Given the description of an element on the screen output the (x, y) to click on. 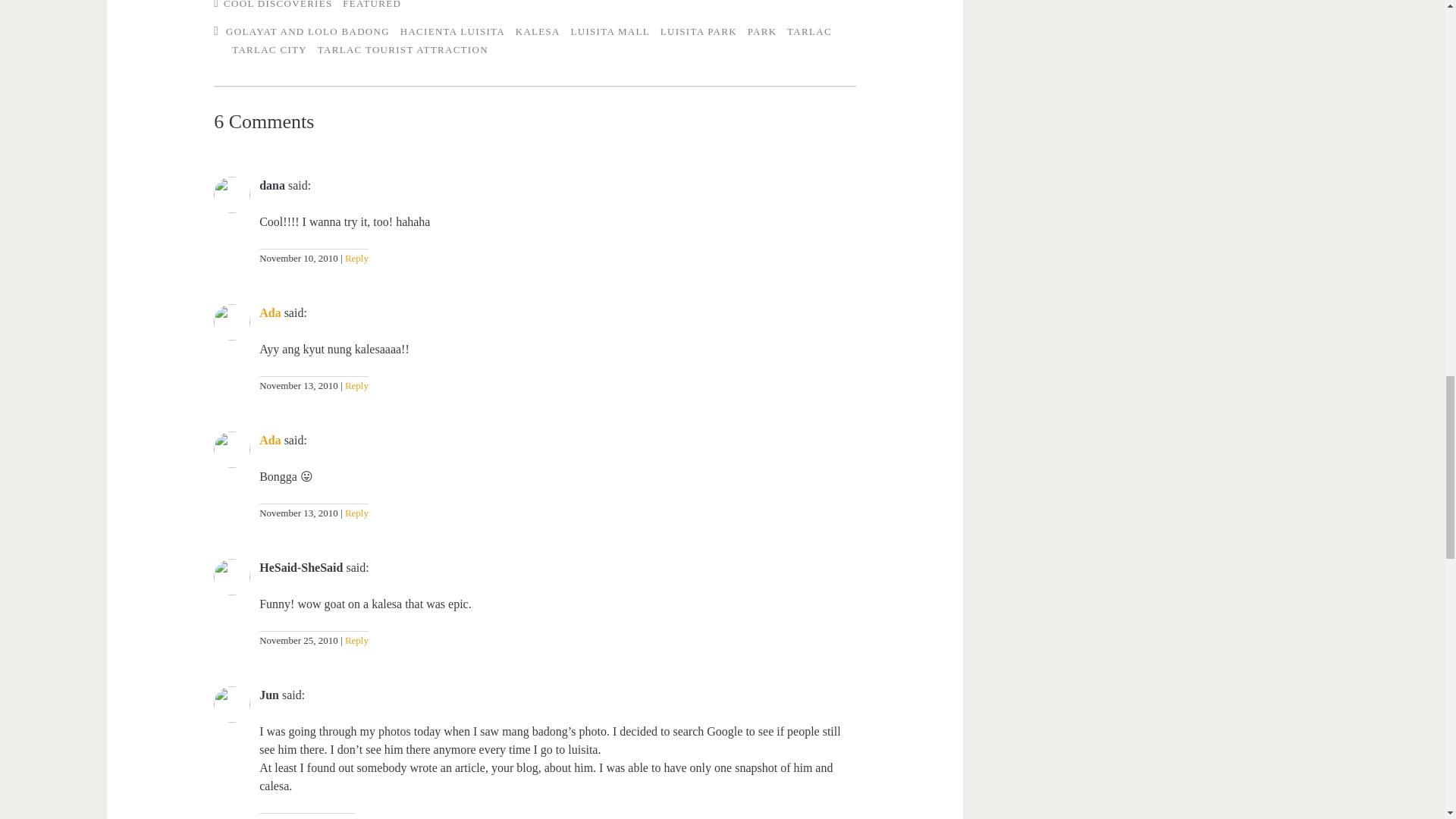
COOL DISCOVERIES (277, 4)
TARLAC CITY (269, 49)
LUISITA PARK (698, 30)
FEATURED (371, 4)
LUISITA MALL (609, 30)
Reply (354, 257)
PARK (762, 30)
KALESA (537, 30)
HACIENTA LUISITA (452, 30)
TARLAC TOURIST ATTRACTION (402, 49)
